Given the description of an element on the screen output the (x, y) to click on. 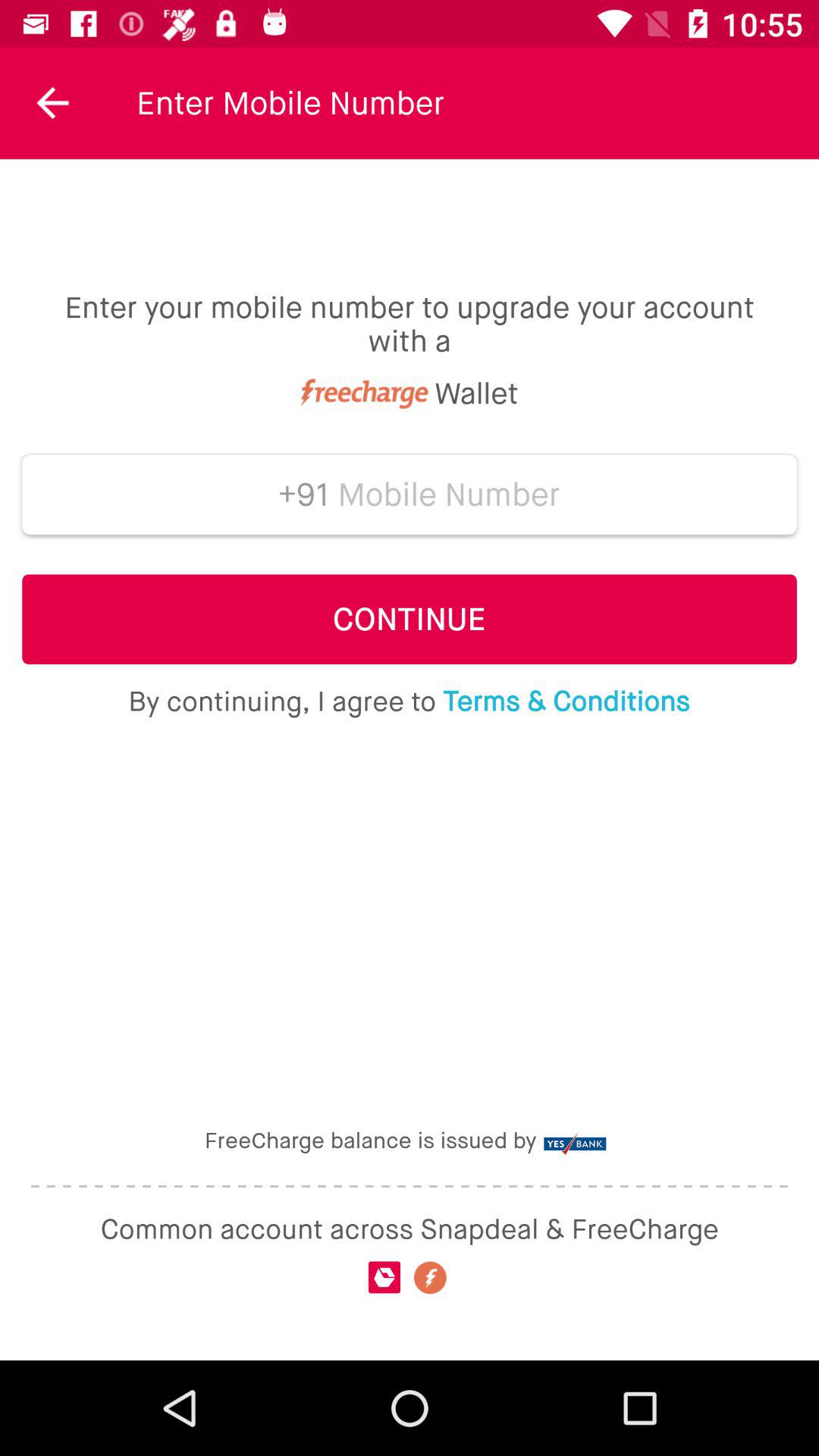
launch the icon above continue icon (297, 494)
